Given the description of an element on the screen output the (x, y) to click on. 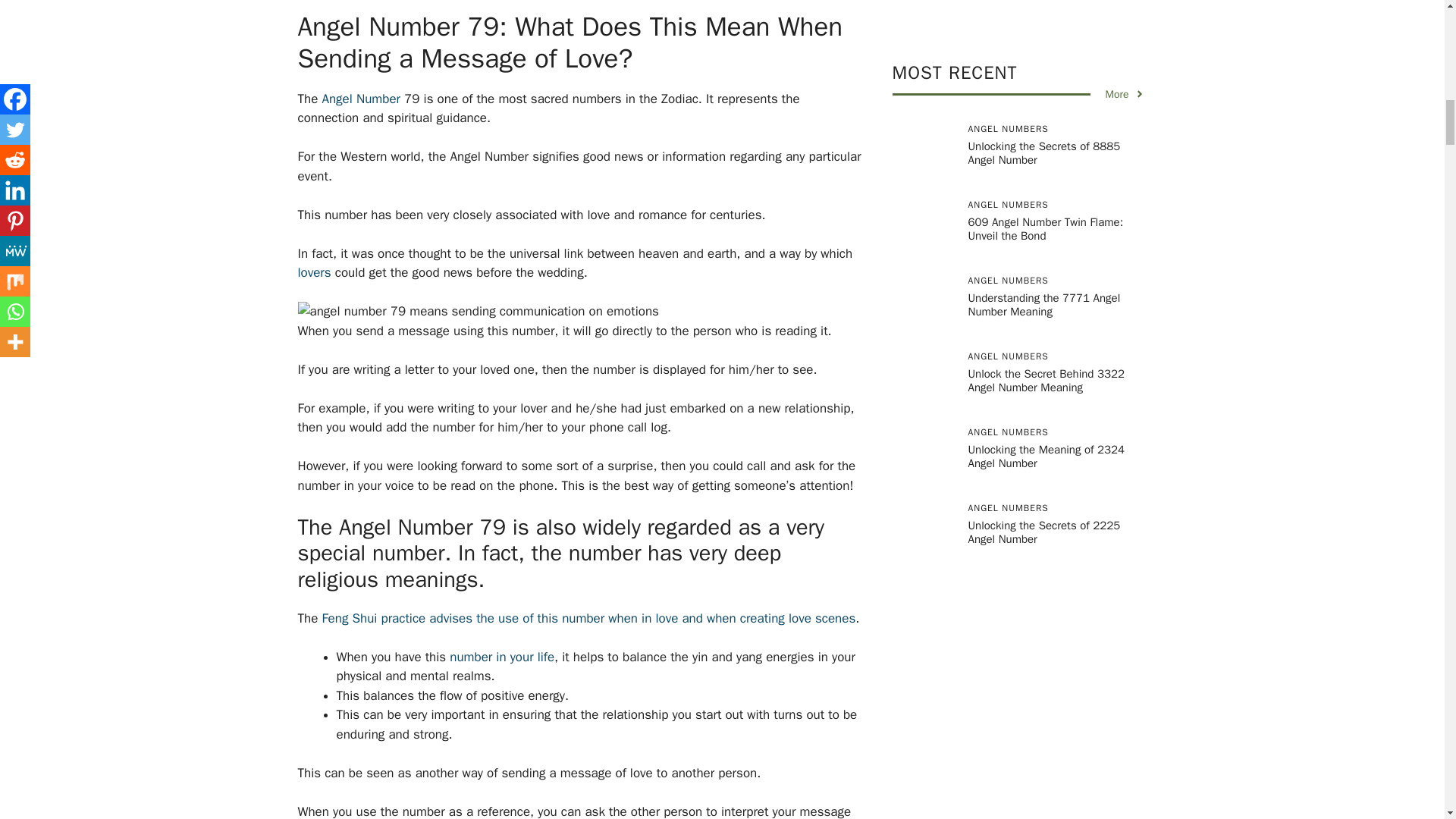
Angel Number (360, 98)
lovers (313, 272)
Angel Number (360, 98)
number in your life (501, 657)
